Given the description of an element on the screen output the (x, y) to click on. 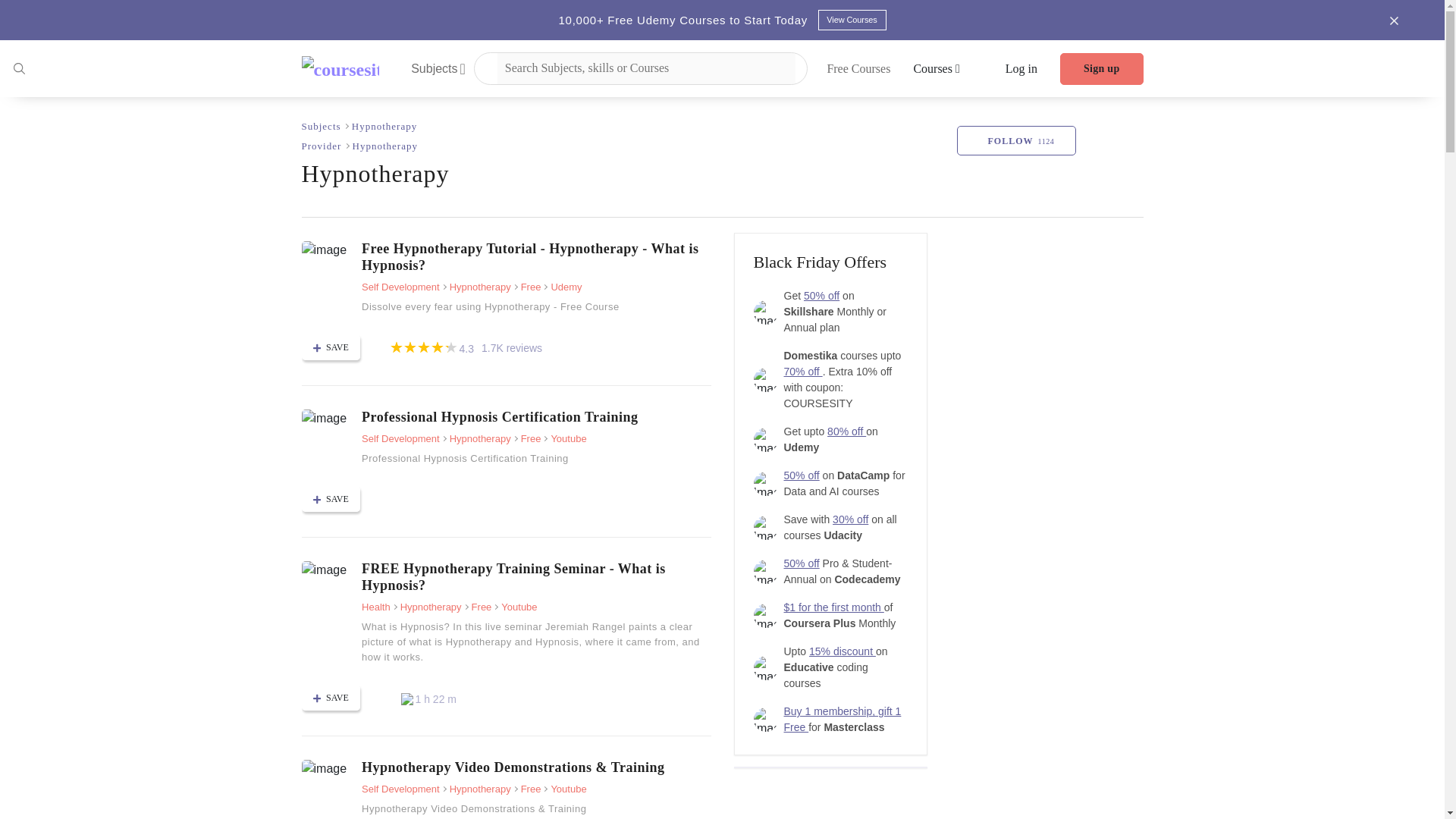
Professional Hypnosis Certification Training (324, 418)
Hypnotherapy (384, 125)
Professional Hypnosis Certification Training (535, 416)
Free (527, 438)
FOLLOW 1124 (1016, 140)
SAVE (330, 498)
Provider (323, 145)
Free Courses (858, 68)
FREE Hypnotherapy Training Seminar - What is Hypnosis? (535, 576)
Submit the search query. (18, 67)
Hypnotherapy (476, 438)
Hypnotherapy (476, 286)
Self Development (400, 286)
Youtube (564, 438)
